Given the description of an element on the screen output the (x, y) to click on. 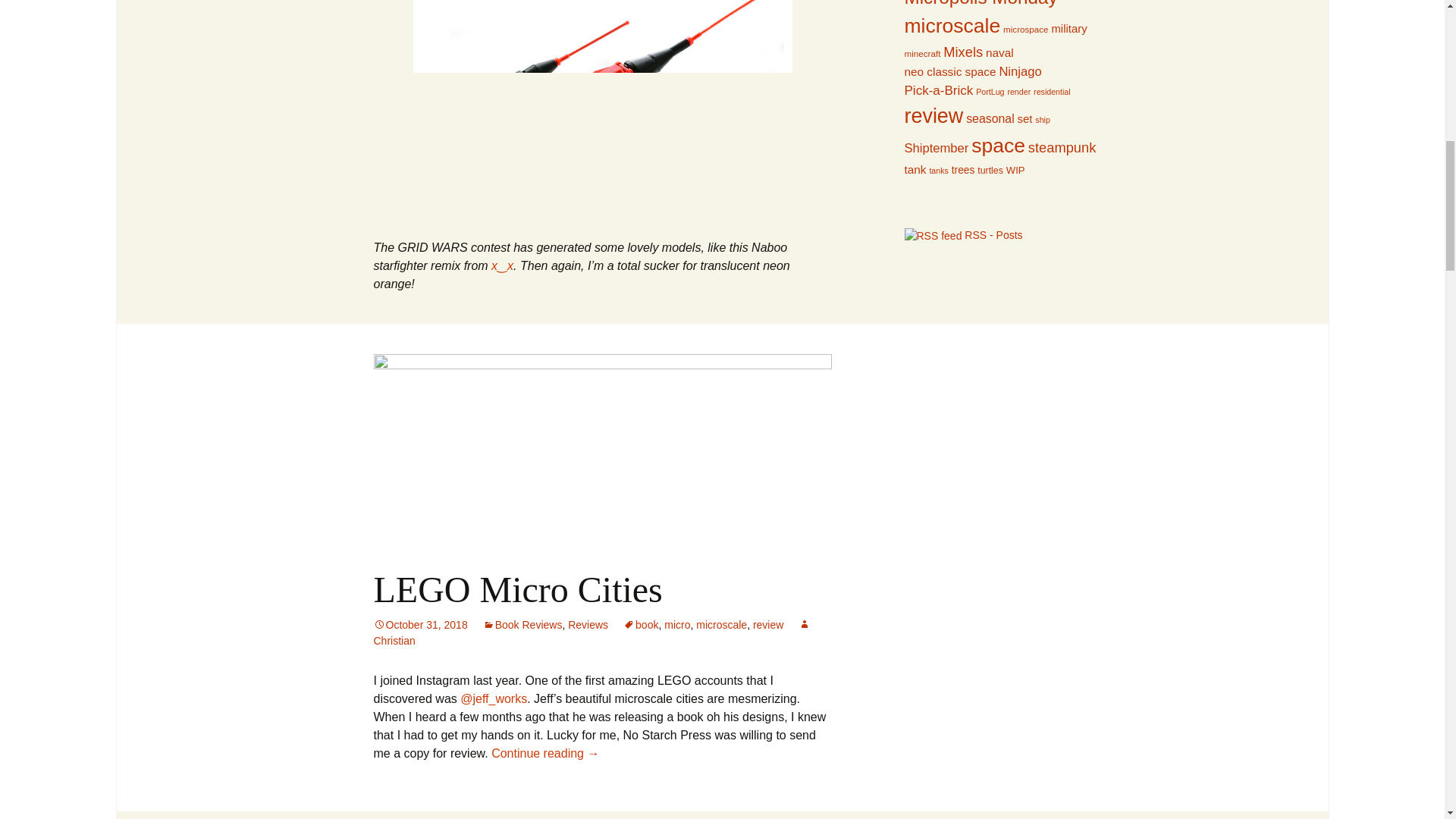
Naboo N-1 Grid Fighter.exe (601, 110)
Christian (591, 633)
review (767, 624)
book (640, 624)
View all posts by Christian (591, 633)
Book Reviews (522, 624)
Reviews (587, 624)
microscale (720, 624)
micro (676, 624)
LEGO Micro Cities (517, 589)
